Given the description of an element on the screen output the (x, y) to click on. 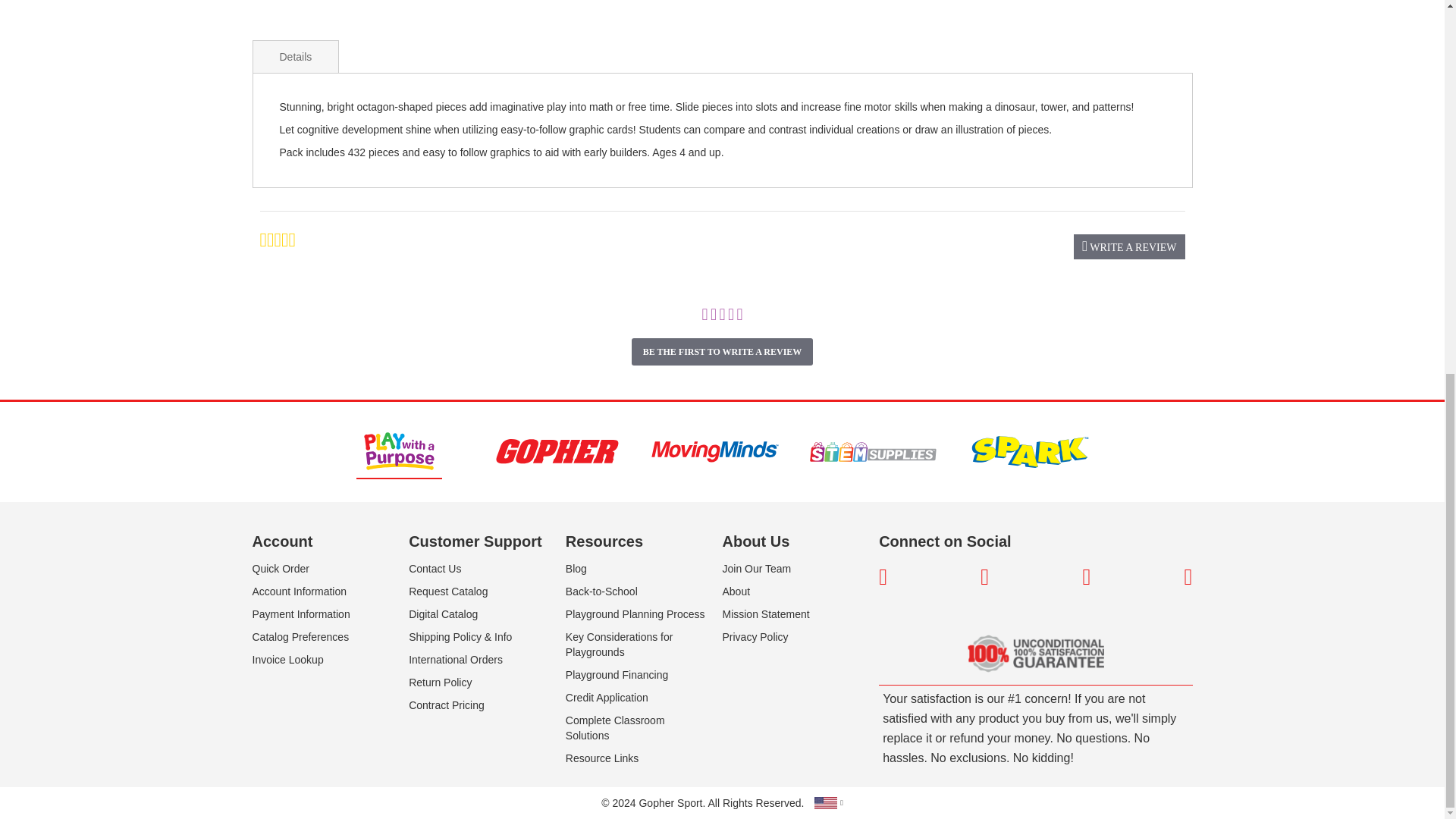
Play with a Purpose (398, 451)
SPARK curriculum (1029, 451)
SPARK curriculum (1030, 451)
Moving Minds (713, 451)
Moving Minds (714, 452)
Stem Supplies (872, 452)
Play with a Purpose (399, 452)
Gopher Sport (556, 451)
Gopher Sport (555, 452)
Stem Supplies (871, 452)
